Given the description of an element on the screen output the (x, y) to click on. 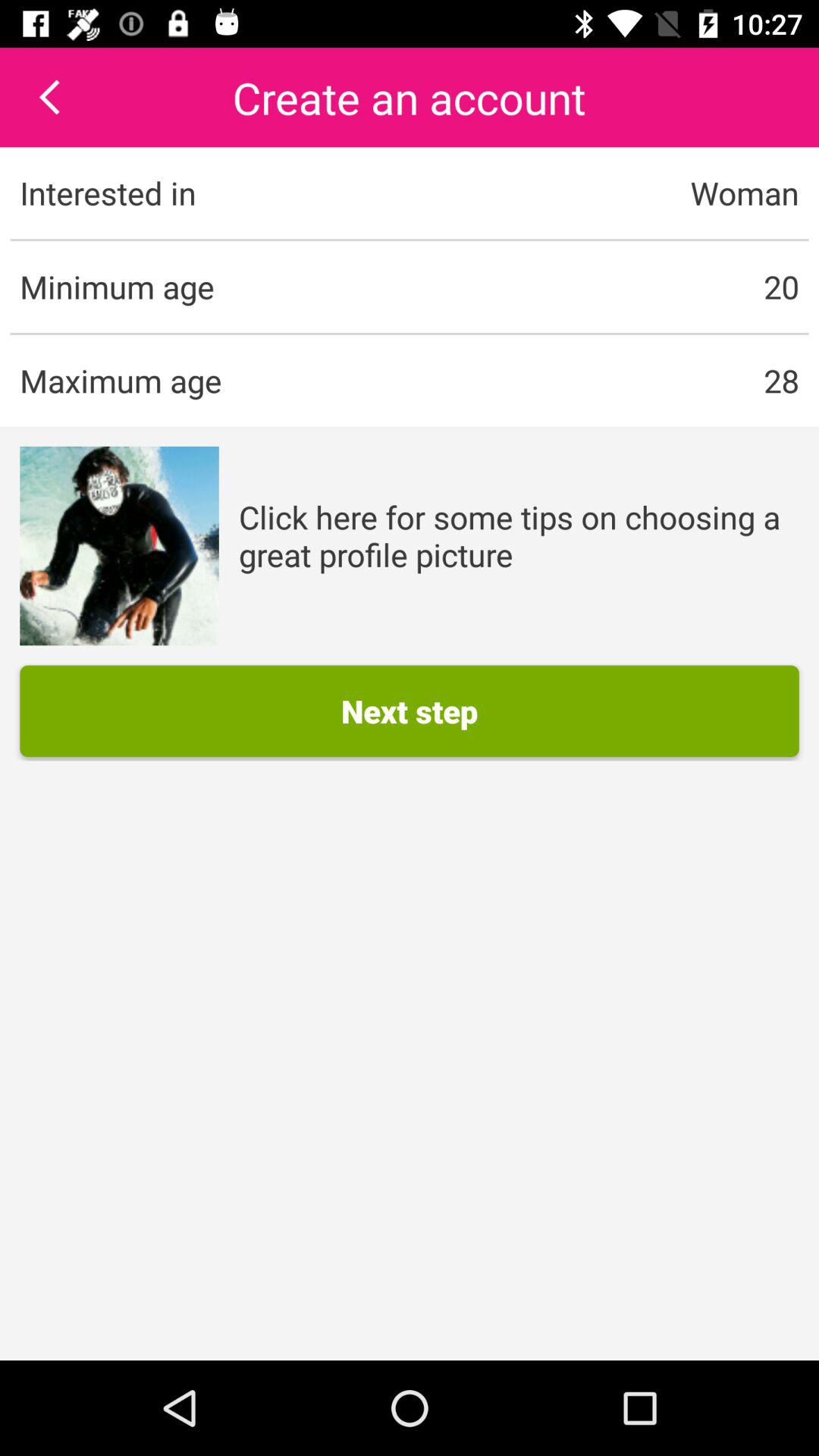
select the item above next step button (518, 535)
